Given the description of an element on the screen output the (x, y) to click on. 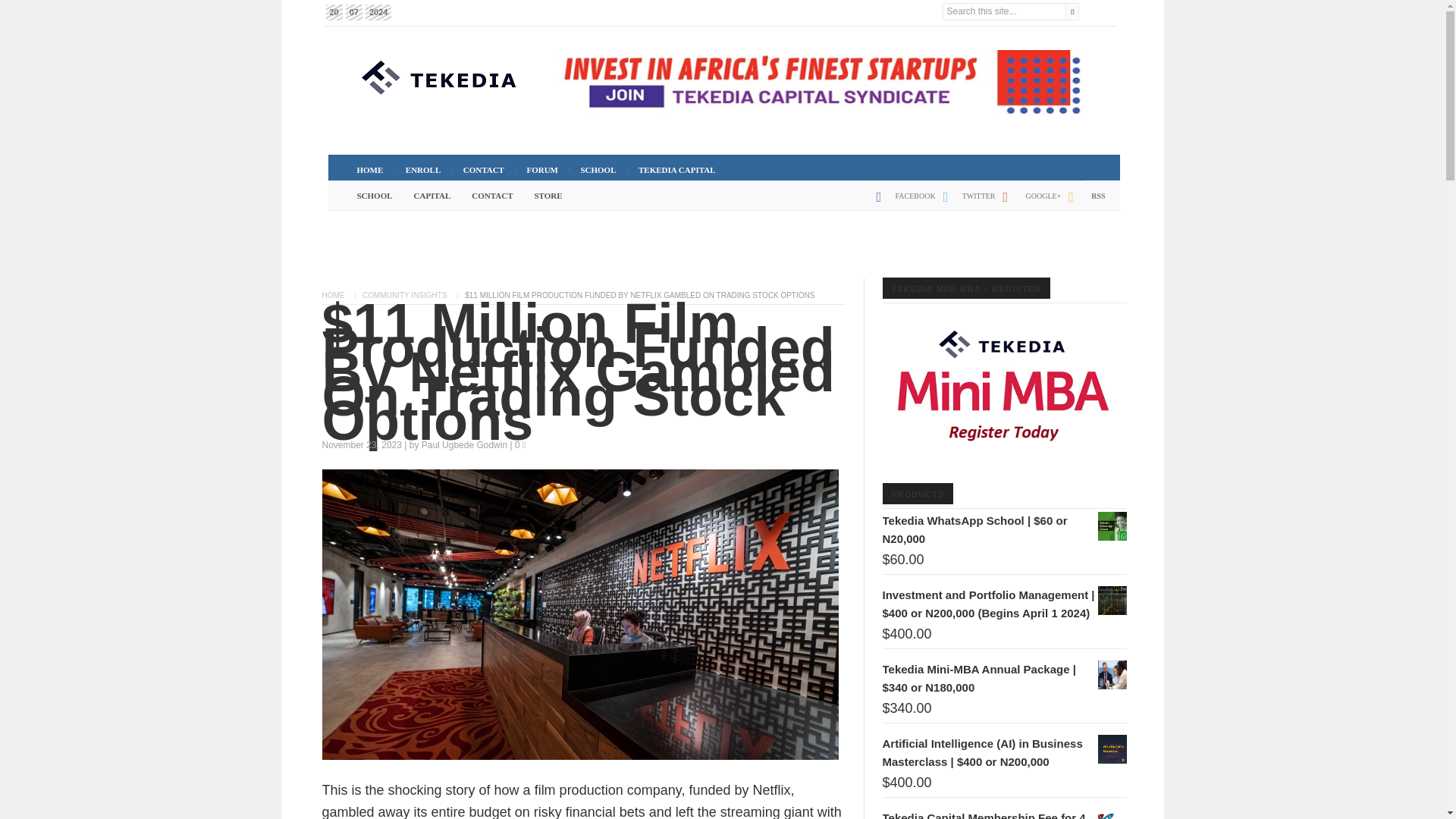
FORUM (542, 169)
CONTACT (483, 169)
HOME (369, 169)
google (1028, 201)
rss (1083, 201)
facebook (902, 201)
twitter (965, 201)
ENROLL (422, 169)
